Given the description of an element on the screen output the (x, y) to click on. 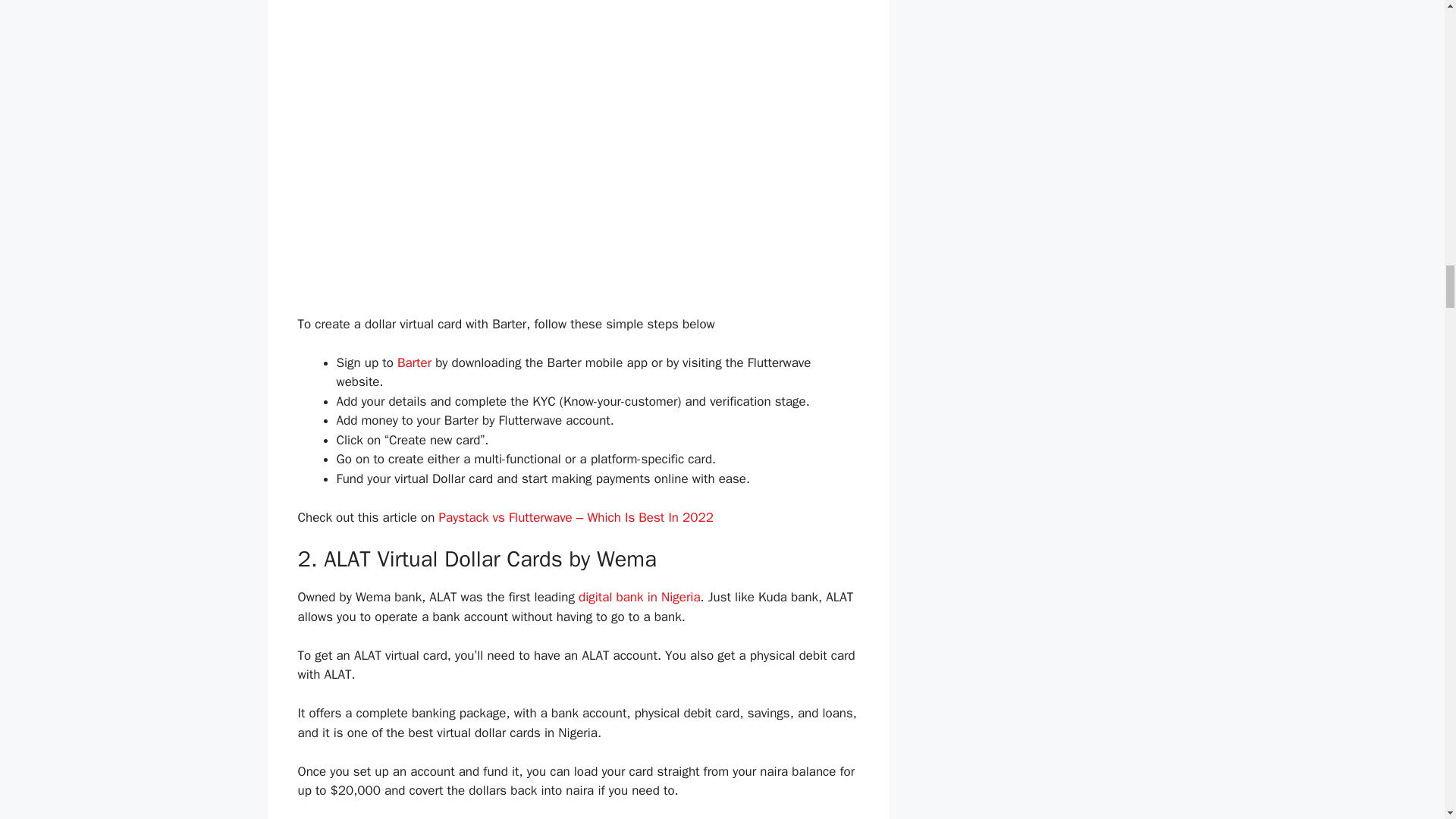
digital bank in Nigeria (639, 596)
Barter (413, 362)
